Given the description of an element on the screen output the (x, y) to click on. 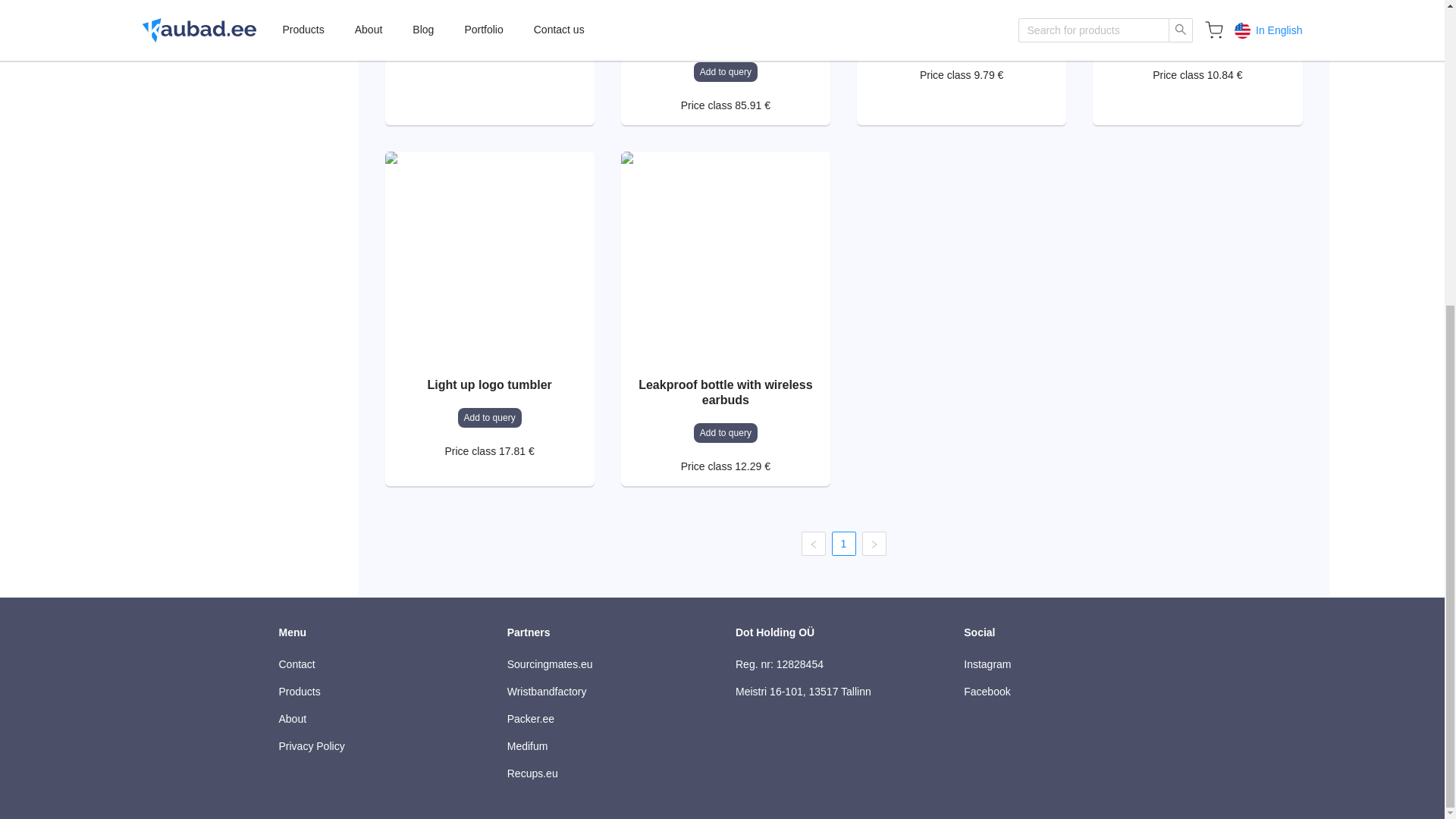
Leakproof bottle with wireless earbuds (724, 392)
Next Page (873, 543)
Contact (379, 664)
Add to query (489, 417)
1 (844, 543)
Add to query (961, 41)
Bottle with touch thermometer (1196, 8)
Bottle with touch thermometer (960, 8)
1 (843, 543)
Add to query (1197, 41)
